Given the description of an element on the screen output the (x, y) to click on. 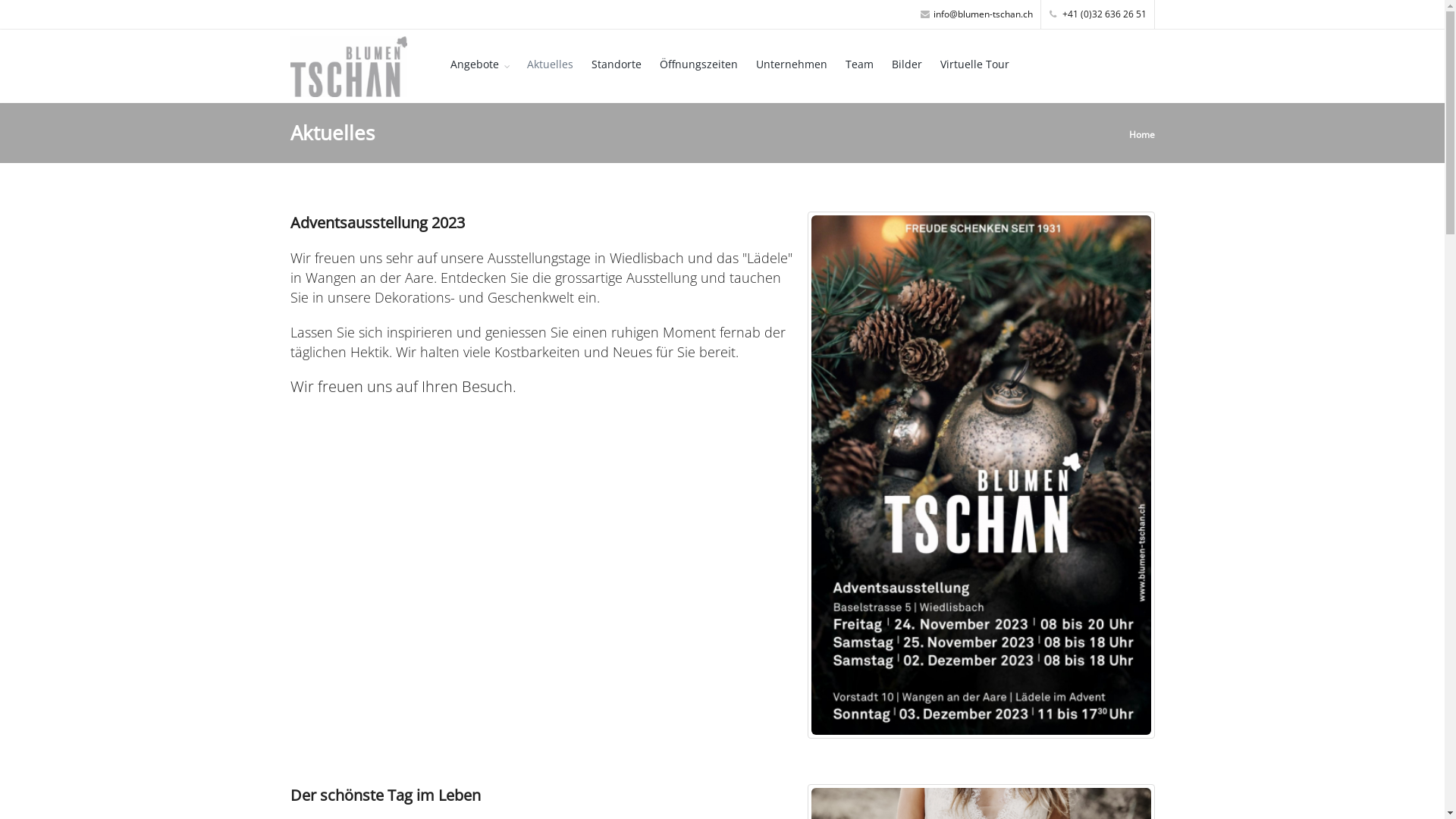
Virtuelle Tour Element type: text (974, 65)
Bilder Element type: text (906, 65)
Aktuelles Element type: text (549, 65)
Standorte Element type: text (616, 65)
Unternehmen Element type: text (791, 65)
Home Element type: text (1141, 133)
Team Element type: text (859, 65)
info@blumen-tschan.ch Element type: text (976, 14)
Angebote Element type: text (479, 65)
 +41 (0)32 636 26 51 Element type: text (1097, 14)
